Given the description of an element on the screen output the (x, y) to click on. 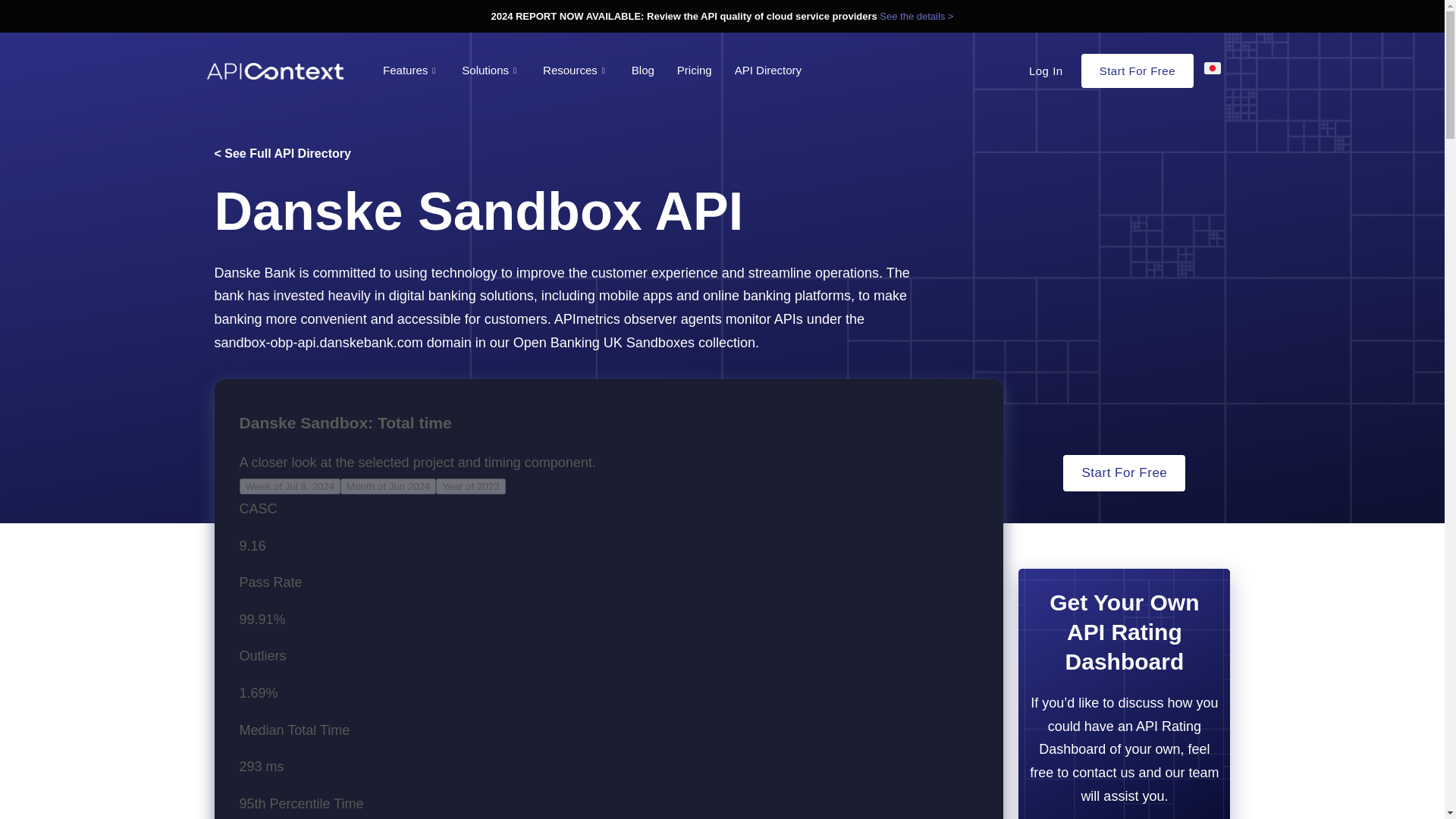
Solutions (490, 69)
Resources (575, 69)
Features (410, 69)
